Given the description of an element on the screen output the (x, y) to click on. 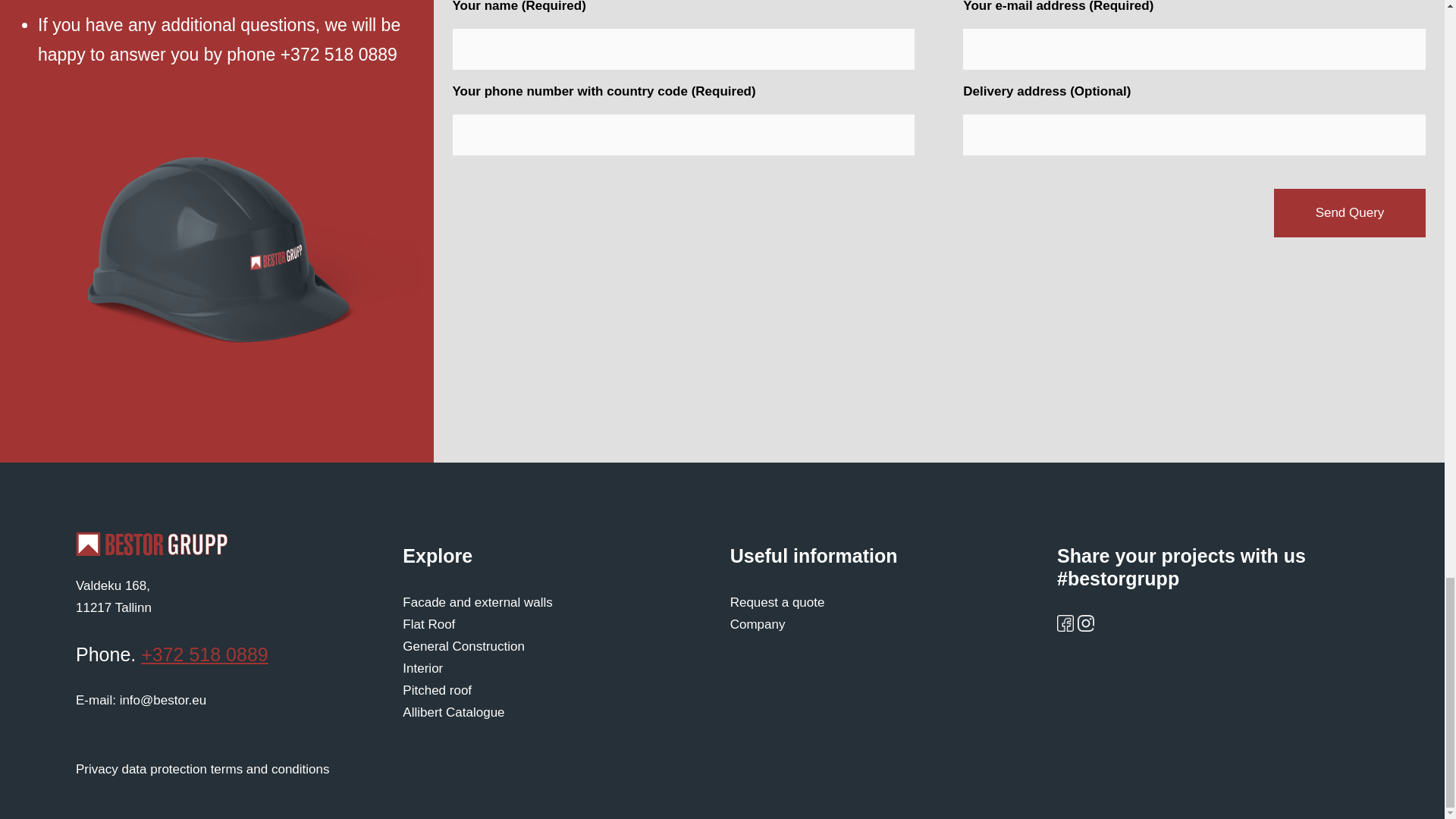
Send Query (1349, 213)
General Construction (113, 596)
Send Query (463, 646)
Interior (1349, 213)
Pitched roof (422, 667)
Facade and external walls (437, 690)
Bestor Grupp AS (478, 602)
Flat Roof (151, 544)
